Given the description of an element on the screen output the (x, y) to click on. 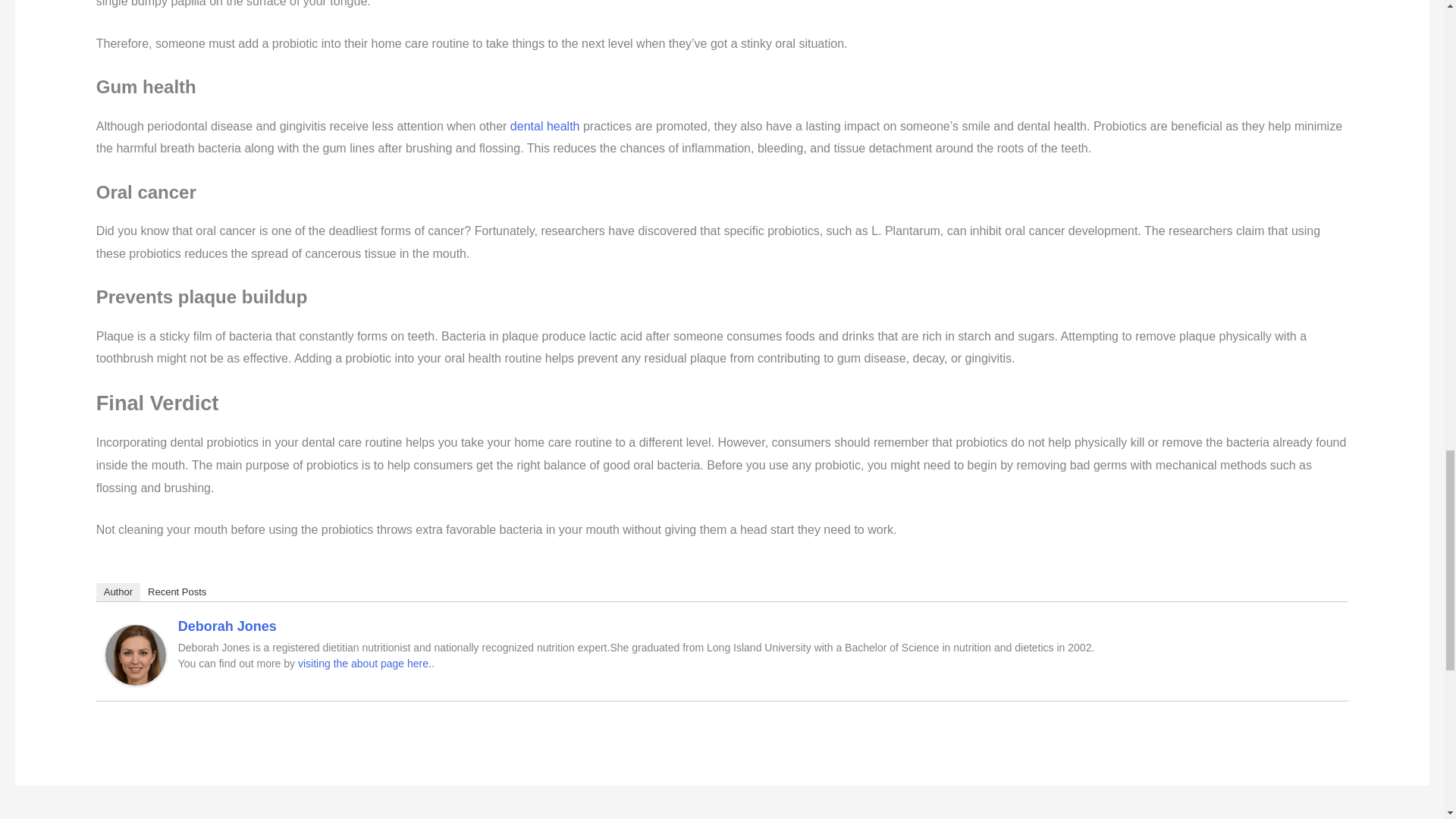
Deborah Jones (226, 626)
How Does Ginger Help with Weight Loss: 3 Essential Steps. (1334, 815)
dental health (547, 125)
visiting the about page here. (364, 663)
What is Gum Recession: 5 Major Treatments. (119, 815)
Author (117, 592)
Deborah Jones (134, 653)
Recent Posts (176, 592)
